Given the description of an element on the screen output the (x, y) to click on. 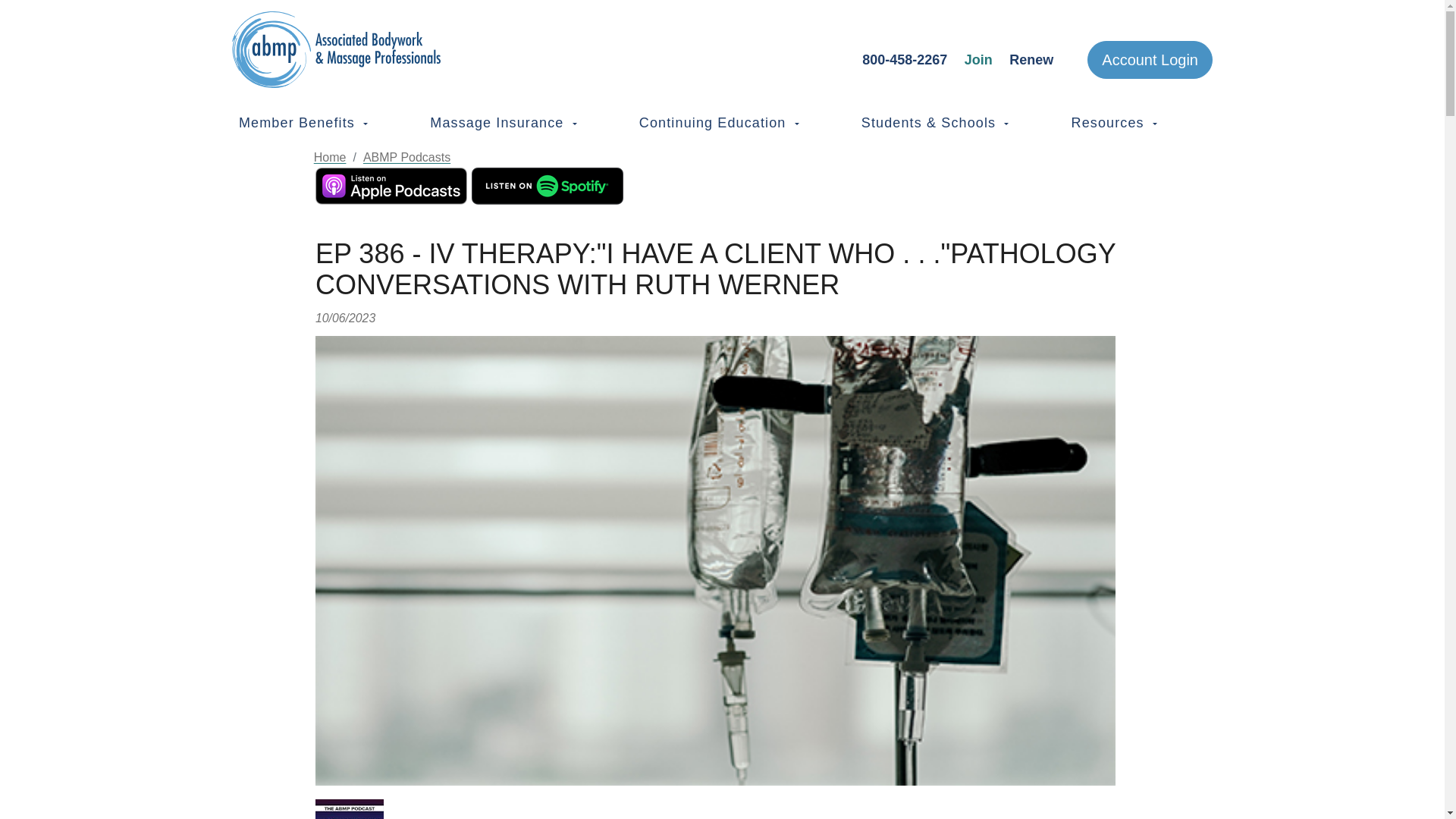
Renew (1030, 59)
Join (977, 59)
Home (403, 49)
Account Login (1149, 59)
Libsyn Player (722, 809)
800-458-2267 (904, 59)
